Given the description of an element on the screen output the (x, y) to click on. 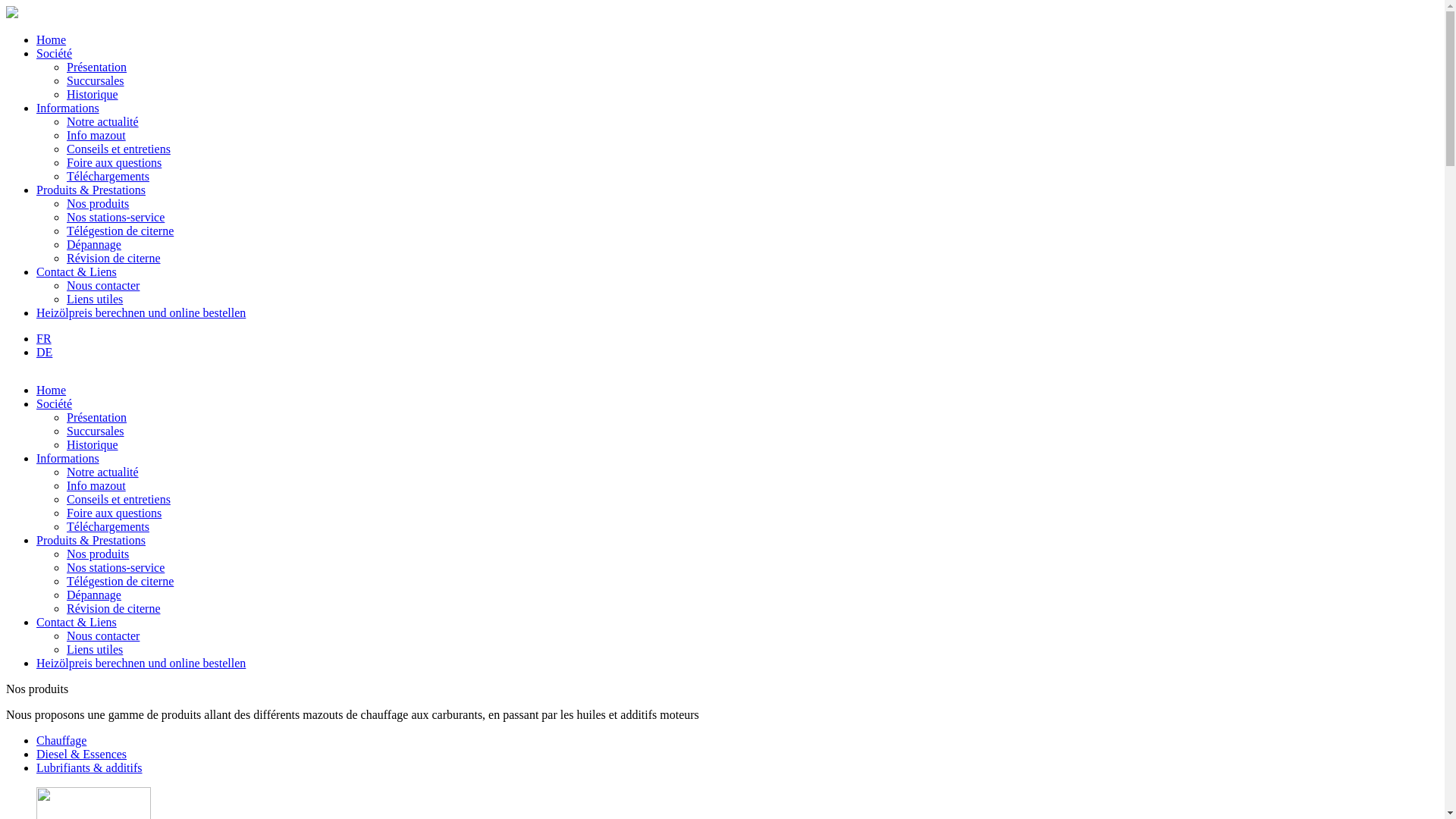
Home Element type: text (50, 389)
Conseils et entretiens Element type: text (118, 498)
Historique Element type: text (92, 444)
Info mazout Element type: text (95, 485)
Chauffage Element type: text (737, 740)
Nos produits Element type: text (97, 203)
Produits & Prestations Element type: text (90, 189)
Conseils et entretiens Element type: text (118, 148)
Info mazout Element type: text (95, 134)
Nous contacter Element type: text (102, 635)
Produits & Prestations Element type: text (90, 539)
Foire aux questions Element type: text (113, 512)
Informations Element type: text (67, 107)
DE Element type: text (44, 351)
Succursales Element type: text (95, 80)
Nos stations-service Element type: text (115, 216)
Nos stations-service Element type: text (115, 567)
Succursales Element type: text (95, 430)
Liens utiles Element type: text (94, 649)
Liens utiles Element type: text (94, 298)
Nos produits Element type: text (97, 553)
Home Element type: text (50, 39)
FR Element type: text (43, 338)
Contact & Liens Element type: text (76, 621)
Informations Element type: text (67, 457)
Contact & Liens Element type: text (76, 271)
Historique Element type: text (92, 93)
Lubrifiants & additifs Element type: text (737, 768)
Diesel & Essences Element type: text (737, 754)
Nous contacter Element type: text (102, 285)
Foire aux questions Element type: text (113, 162)
